Given the description of an element on the screen output the (x, y) to click on. 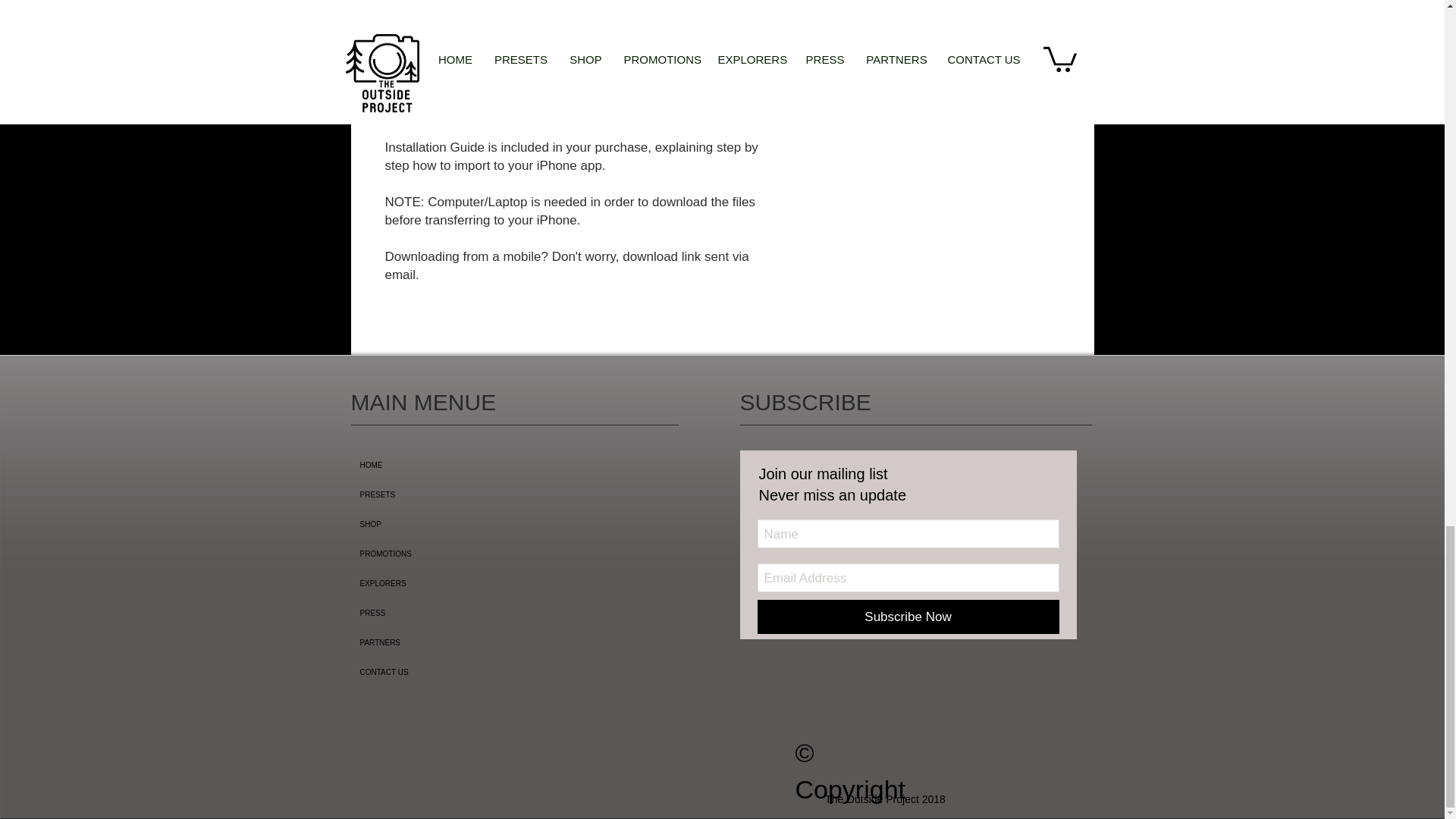
PROMOTIONS (456, 553)
SHOP (456, 523)
PRESS (456, 613)
HOME (456, 464)
EXPLORERS (456, 583)
PARTNERS (456, 642)
PRESETS (456, 494)
